Given the description of an element on the screen output the (x, y) to click on. 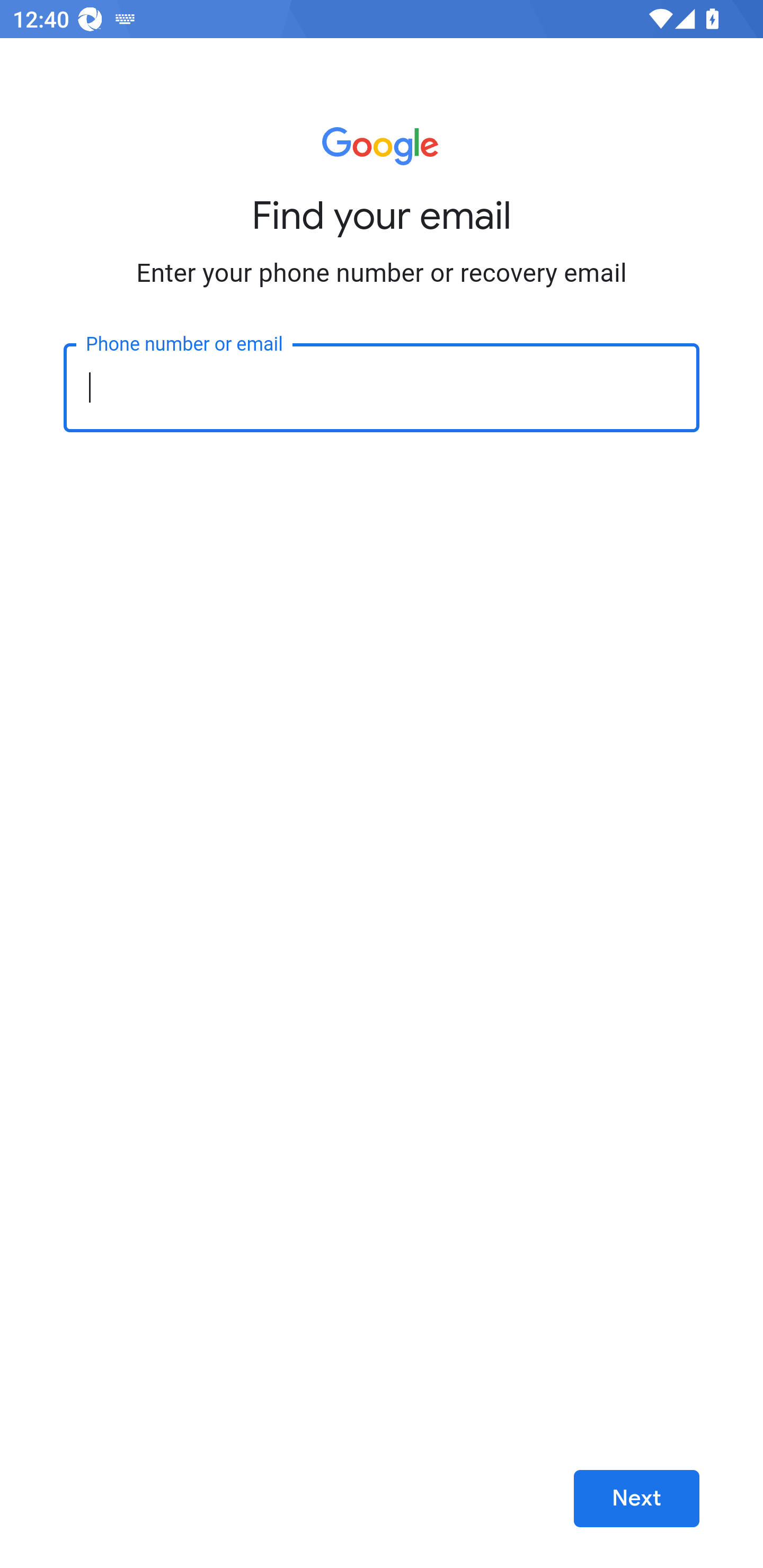
Next (635, 1498)
